Given the description of an element on the screen output the (x, y) to click on. 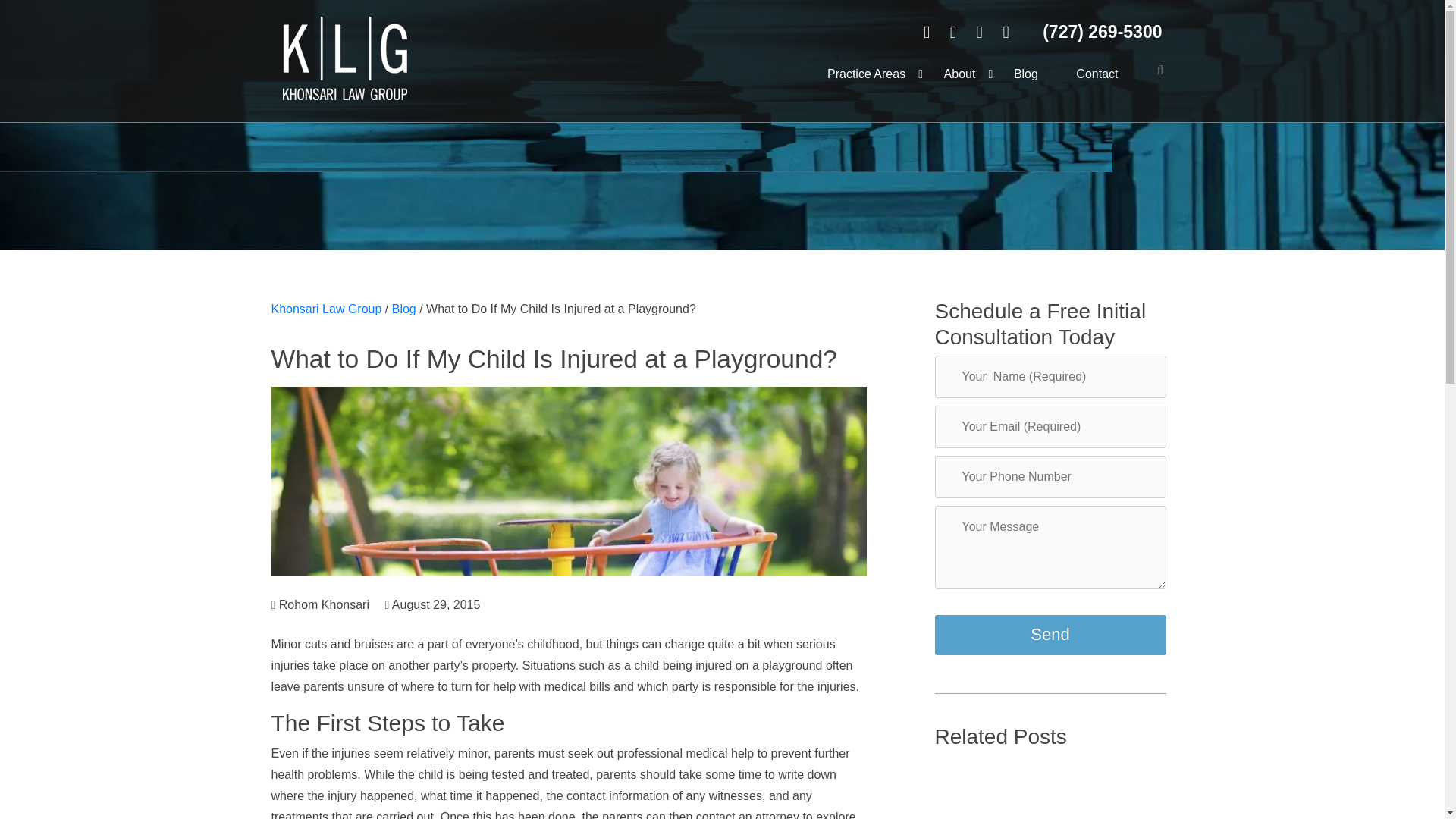
Send (1050, 635)
Send (1050, 635)
Contact (1096, 73)
Blog (1025, 73)
Blog (403, 308)
About (959, 73)
Practice Areas (866, 73)
Khonsari Law Group (325, 308)
